Given the description of an element on the screen output the (x, y) to click on. 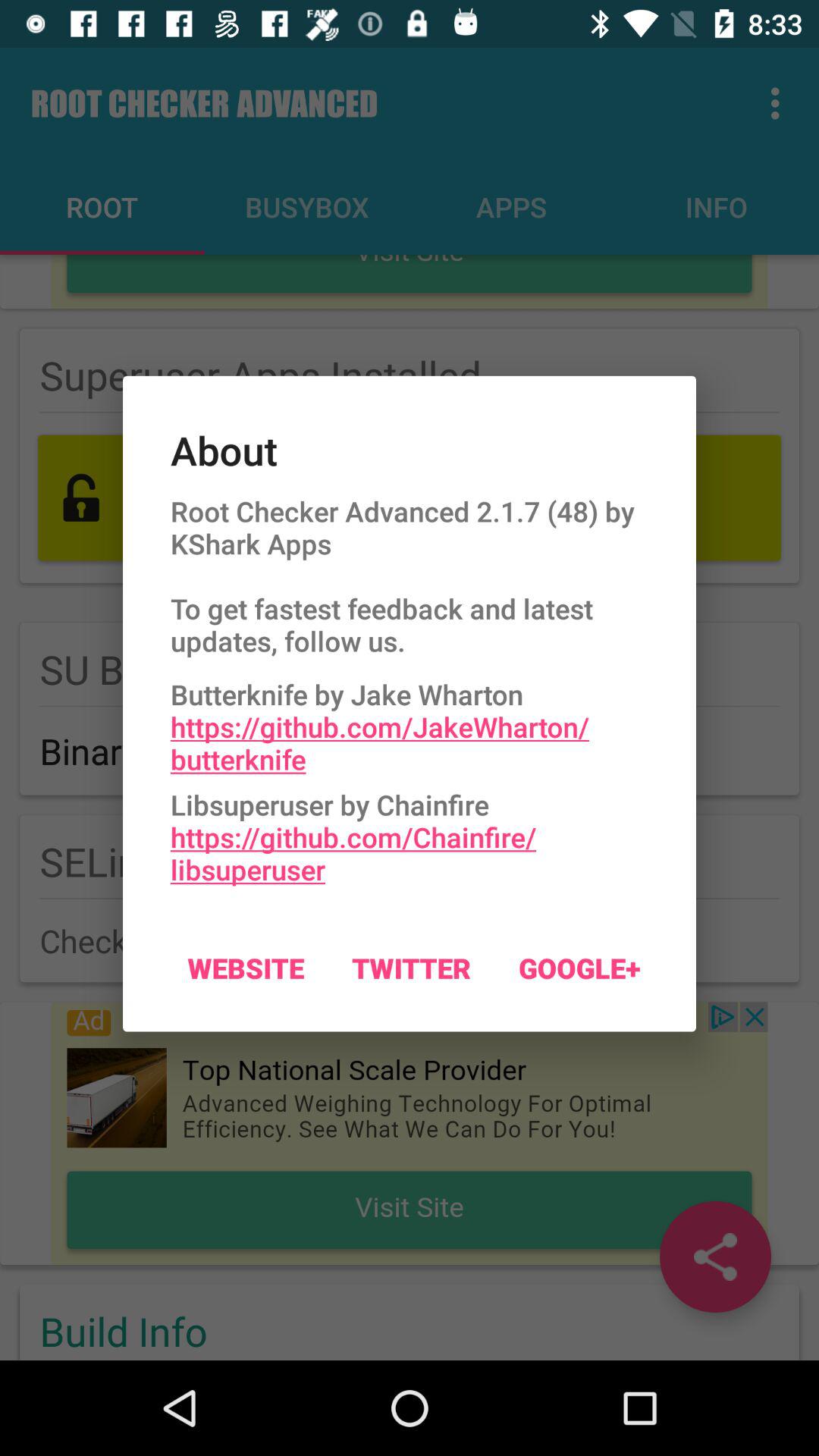
jump until libsuperuser by chainfire icon (409, 833)
